Given the description of an element on the screen output the (x, y) to click on. 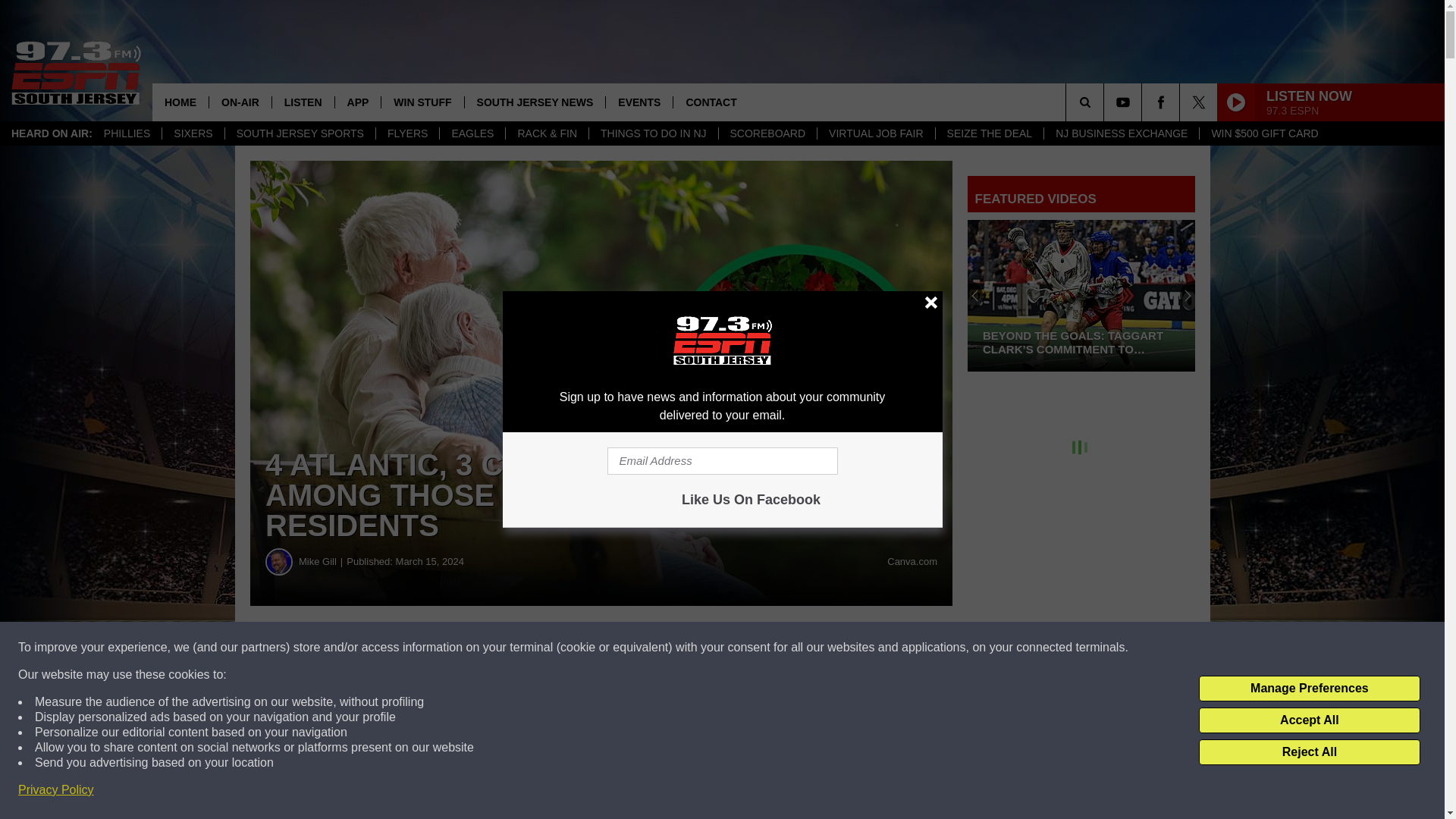
Manage Preferences (1309, 688)
SEARCH (1106, 102)
SIXERS (192, 133)
ON-AIR (239, 102)
Share on Twitter (741, 647)
Share on Facebook (460, 647)
Email Address (722, 461)
FLYERS (407, 133)
Accept All (1309, 720)
NJ BUSINESS EXCHANGE (1120, 133)
Privacy Policy (55, 789)
PHILLIES (127, 133)
Reject All (1309, 751)
HOME (180, 102)
VIRTUAL JOB FAIR (875, 133)
